Given the description of an element on the screen output the (x, y) to click on. 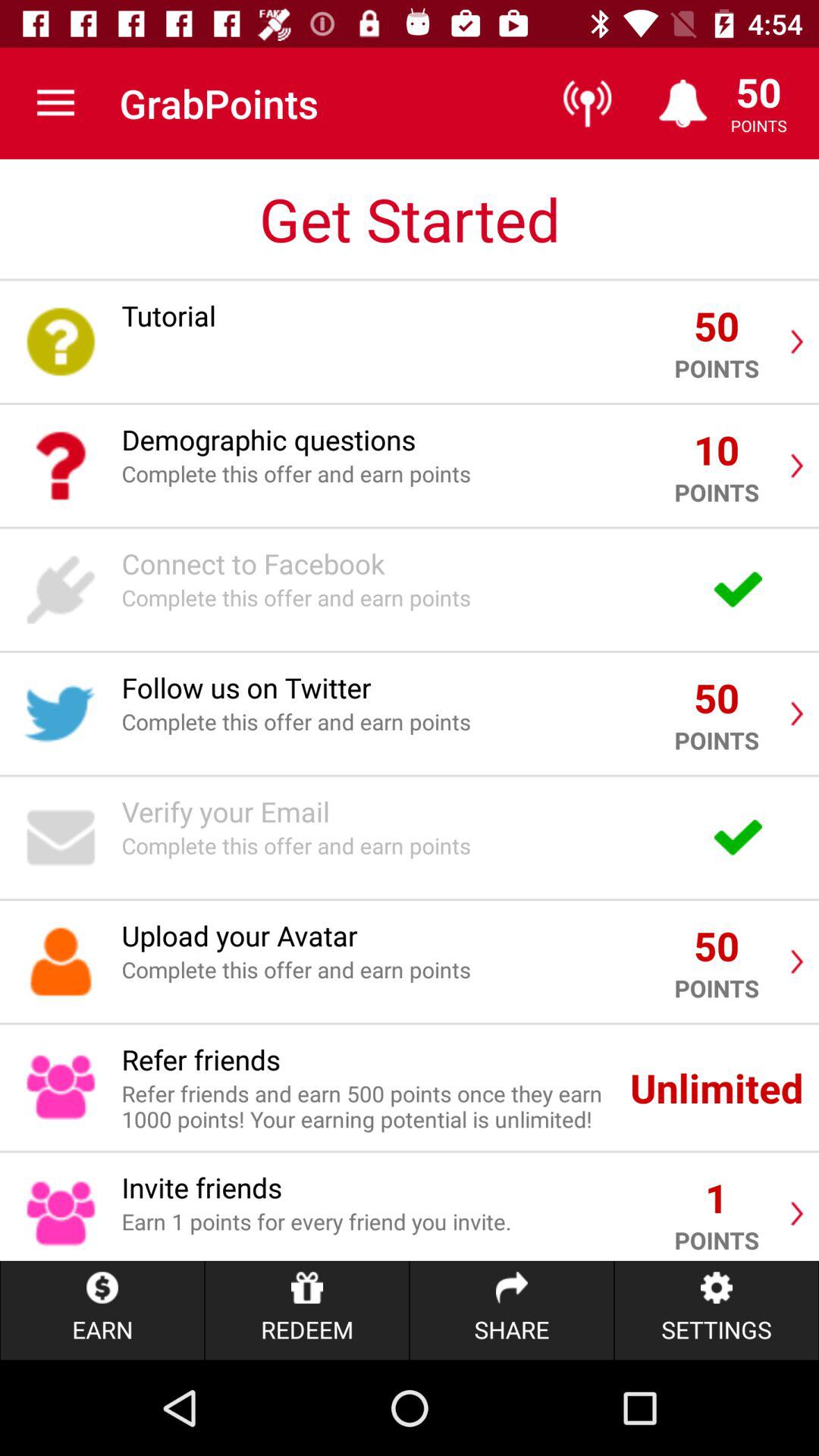
press the item to the left of share (306, 1310)
